Given the description of an element on the screen output the (x, y) to click on. 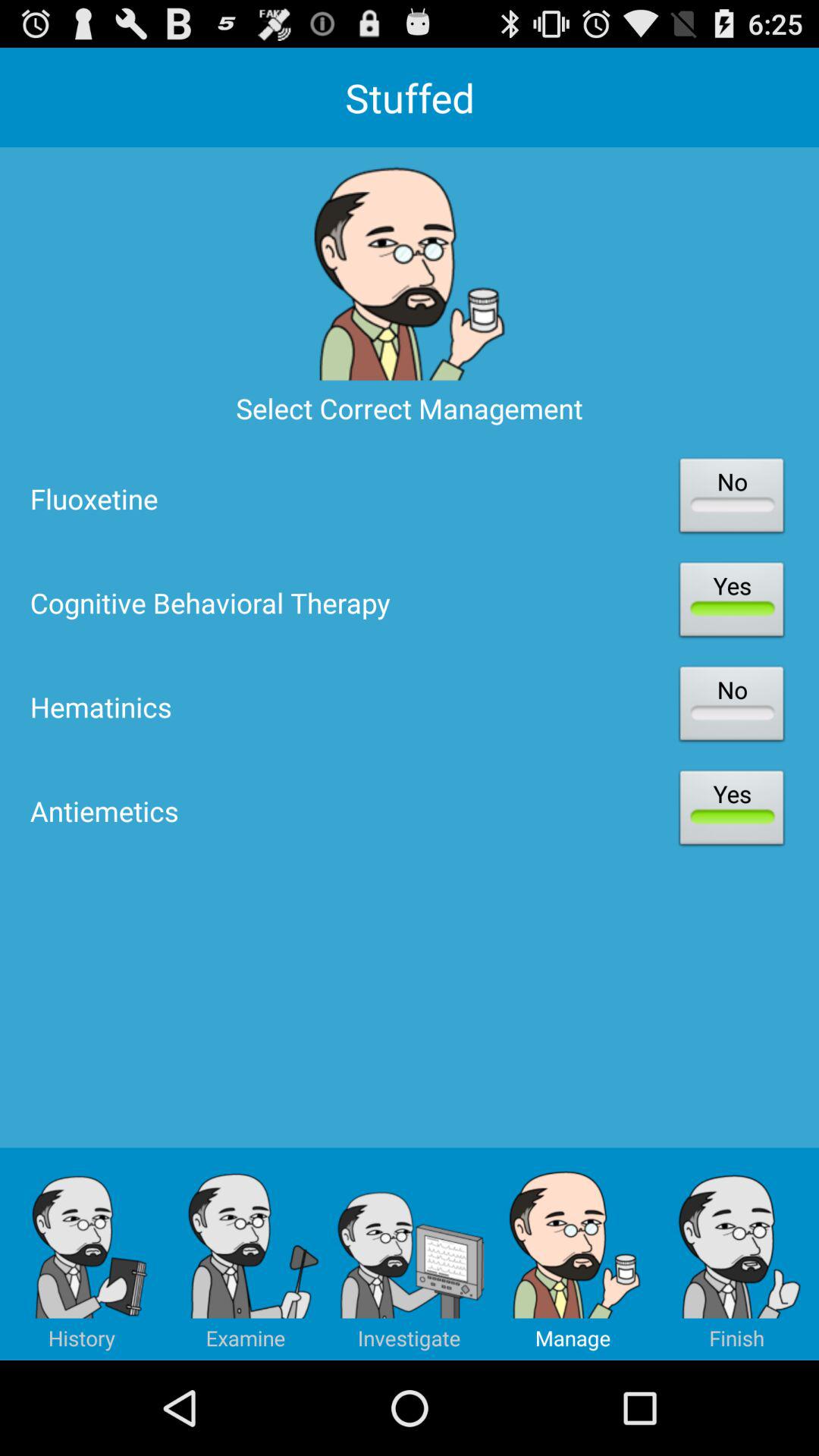
tap app below antiemetics (737, 1253)
